Given the description of an element on the screen output the (x, y) to click on. 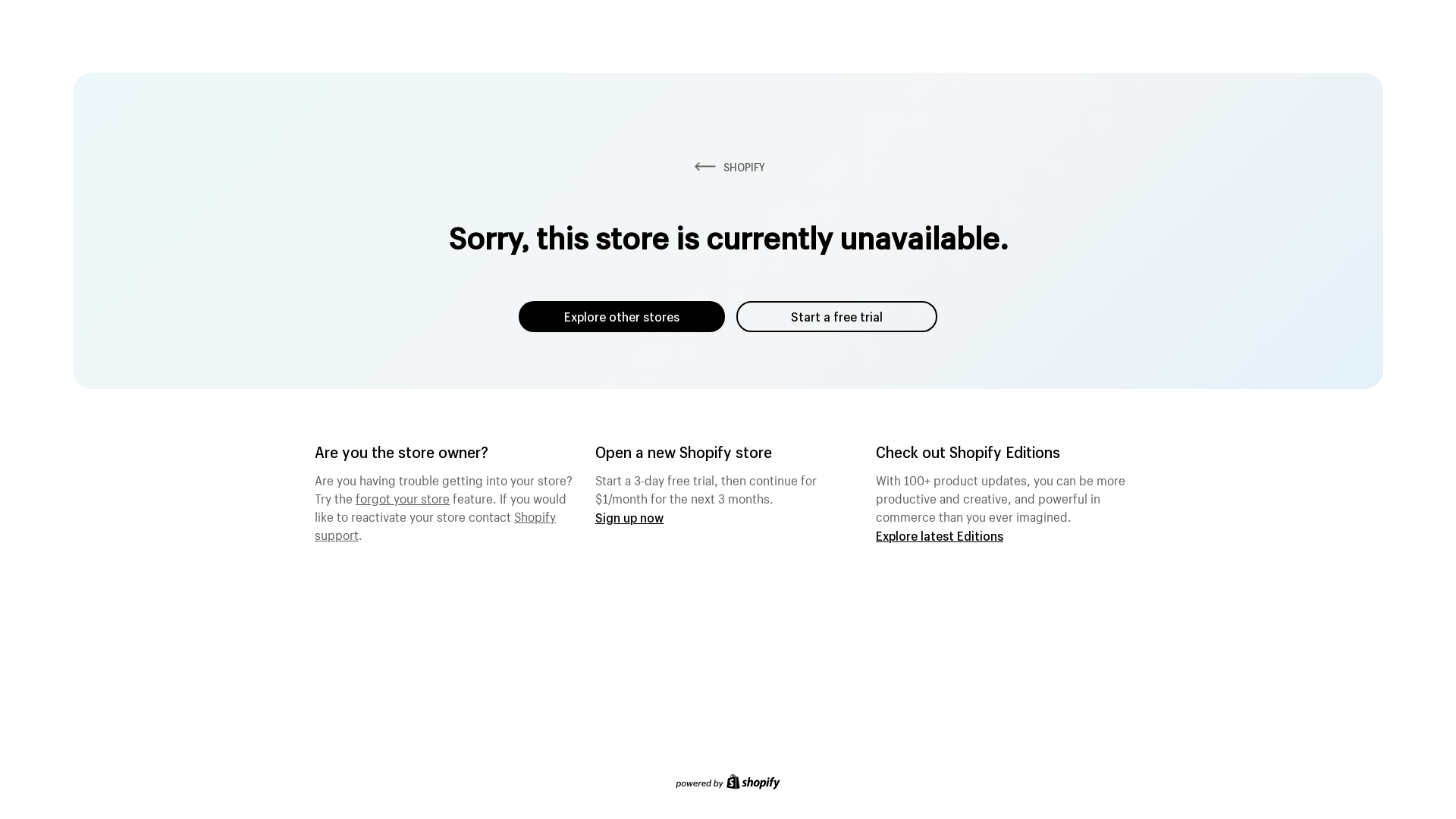
forgot your store Element type: text (402, 496)
Start a free trial Element type: text (836, 316)
Explore other stores Element type: text (621, 316)
Sign up now Element type: text (629, 517)
Shopify support Element type: text (434, 523)
SHOPIFY Element type: text (727, 167)
Explore latest Editions Element type: text (939, 535)
